Given the description of an element on the screen output the (x, y) to click on. 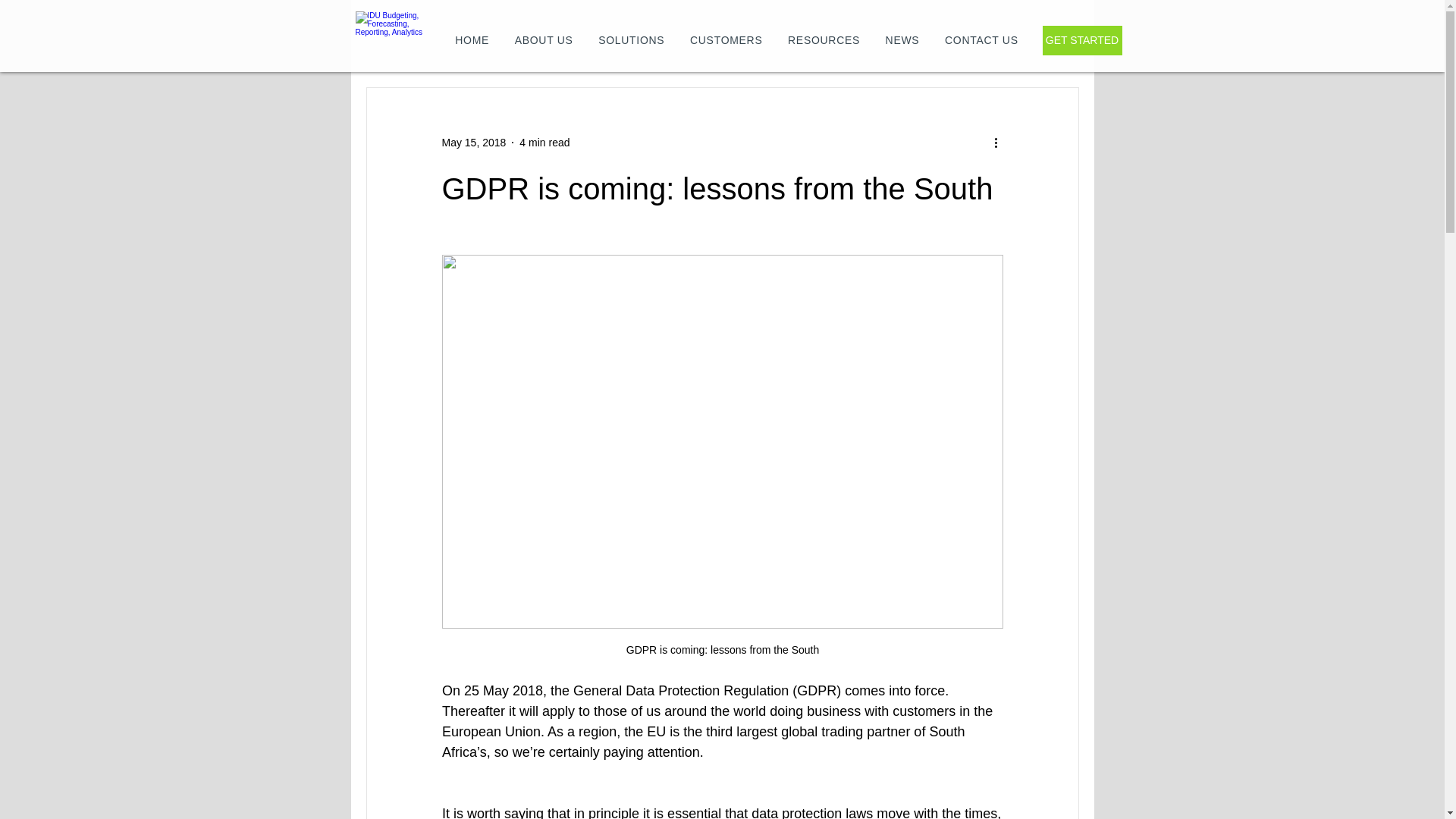
CUSTOMERS (725, 39)
May 15, 2018 (473, 142)
HOME (472, 39)
NEWS (901, 39)
ABOUT US (544, 39)
SOLUTIONS (631, 39)
4 min read (544, 142)
